Given the description of an element on the screen output the (x, y) to click on. 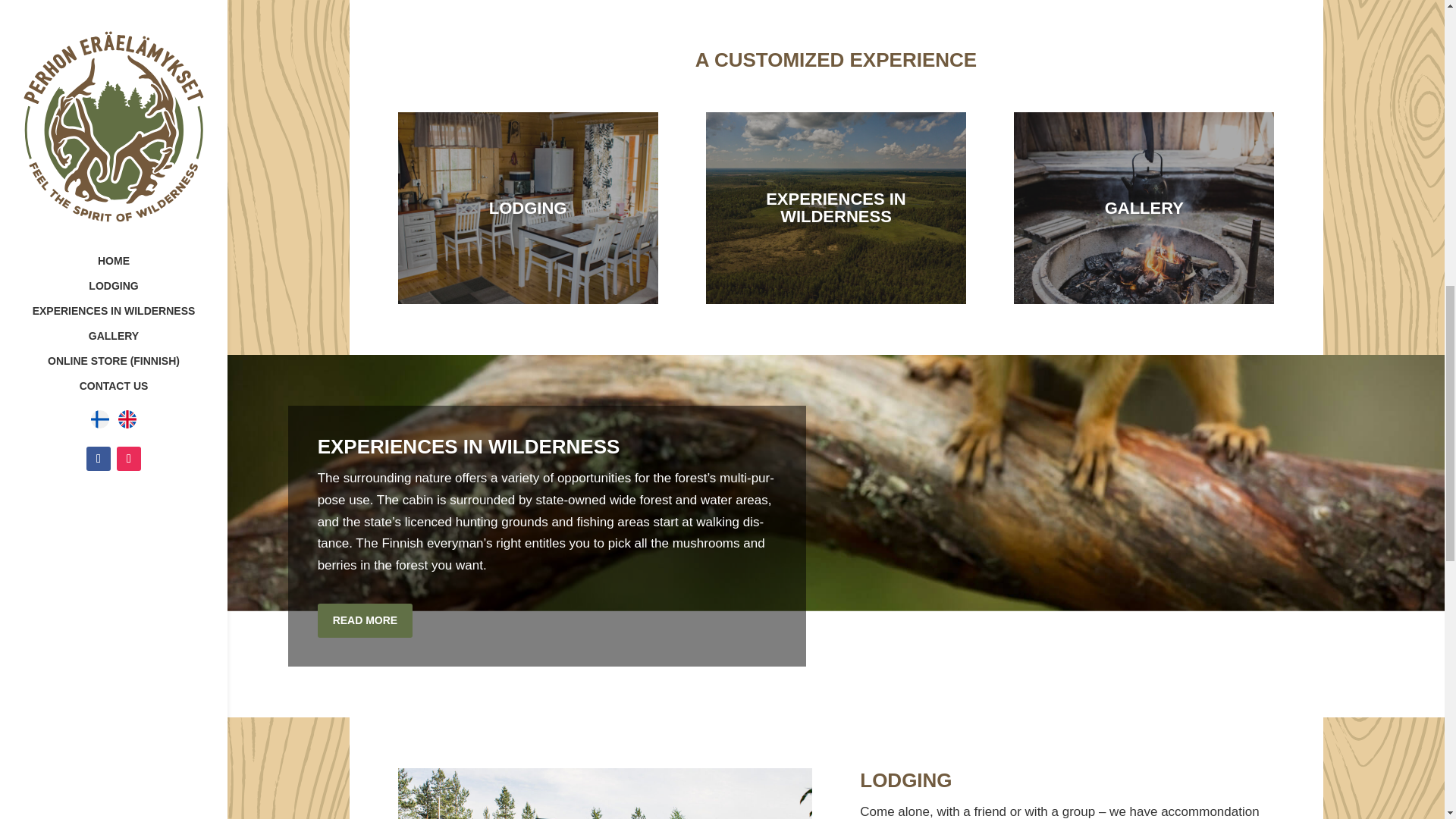
GALLERY (1143, 207)
LODGING (527, 207)
EXPERIENCES IN WILDERNESS (836, 207)
READ MORE (365, 620)
